Given the description of an element on the screen output the (x, y) to click on. 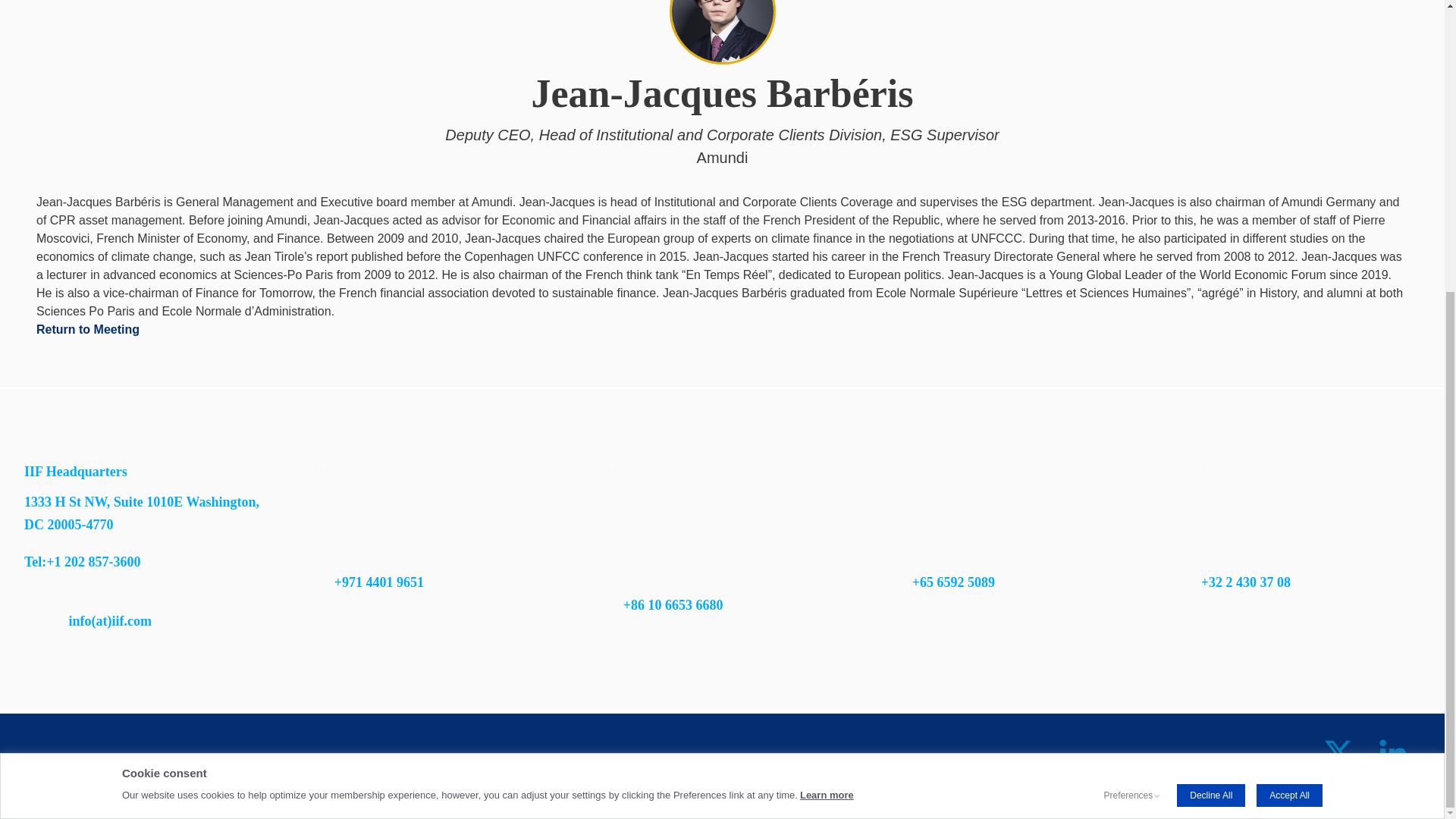
IIF on LinkedIn (1393, 755)
IIF on Twitter (1338, 755)
Return to Meeting (87, 328)
